Given the description of an element on the screen output the (x, y) to click on. 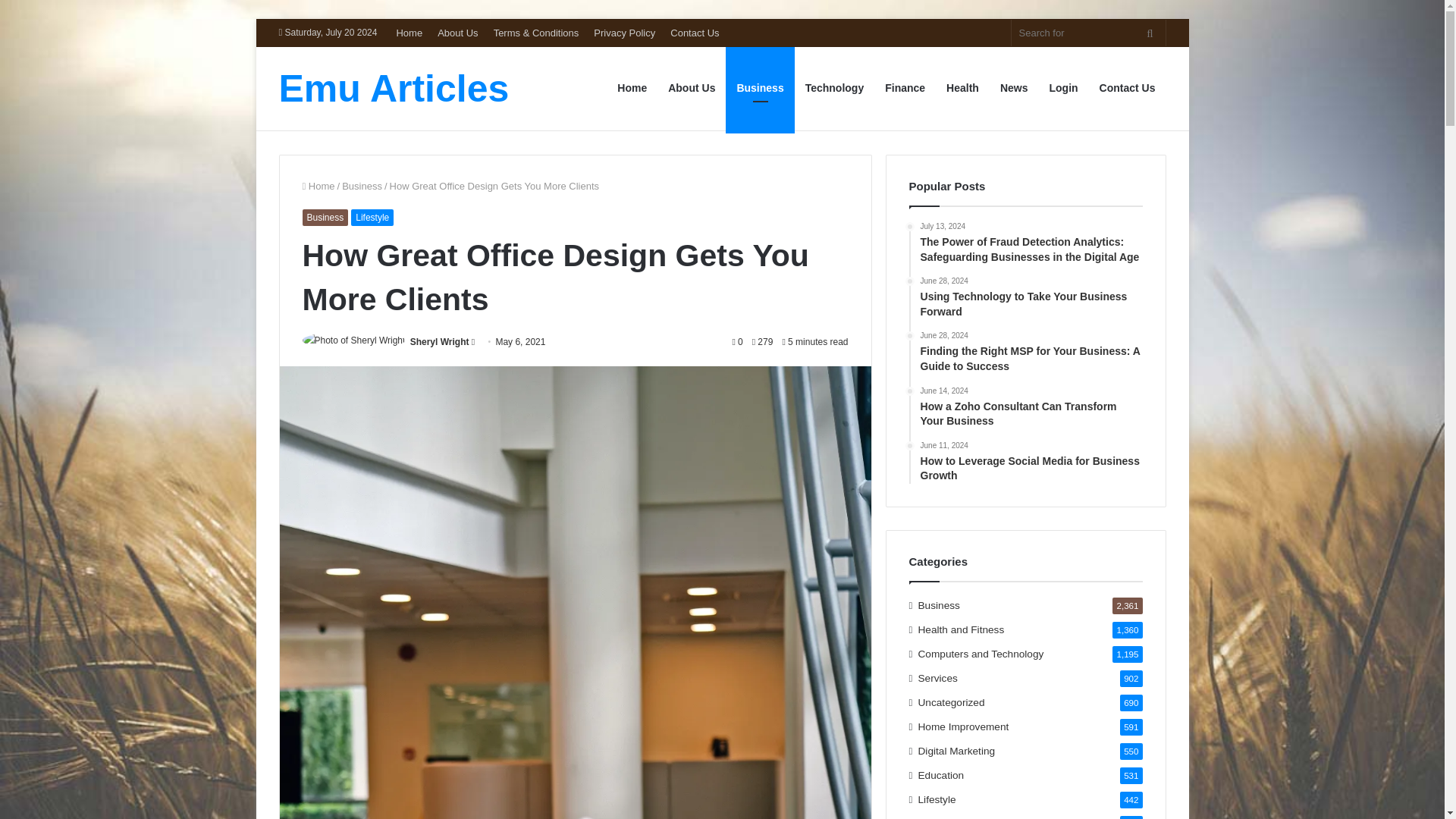
Business (361, 185)
Emu Articles (394, 88)
Contact Us (694, 32)
Privacy Policy (624, 32)
Search for (1088, 32)
Contact Us (1127, 87)
Sheryl Wright (439, 341)
Home (317, 185)
Search for (1150, 32)
About Us (456, 32)
Technology (834, 87)
Lifestyle (371, 217)
Emu Articles (394, 88)
Home (408, 32)
Sheryl Wright (439, 341)
